Given the description of an element on the screen output the (x, y) to click on. 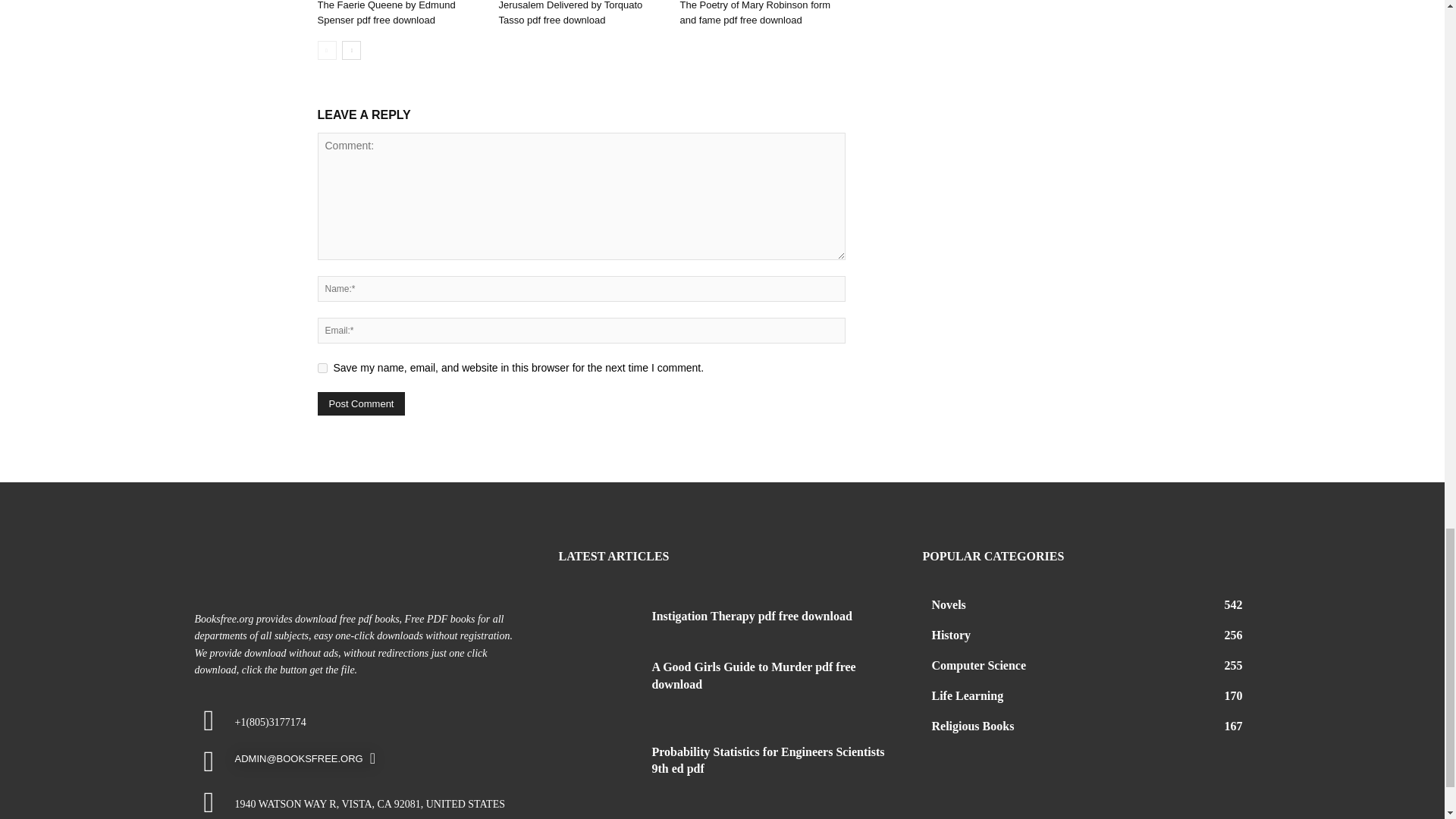
Post Comment (360, 403)
yes (321, 368)
